Given the description of an element on the screen output the (x, y) to click on. 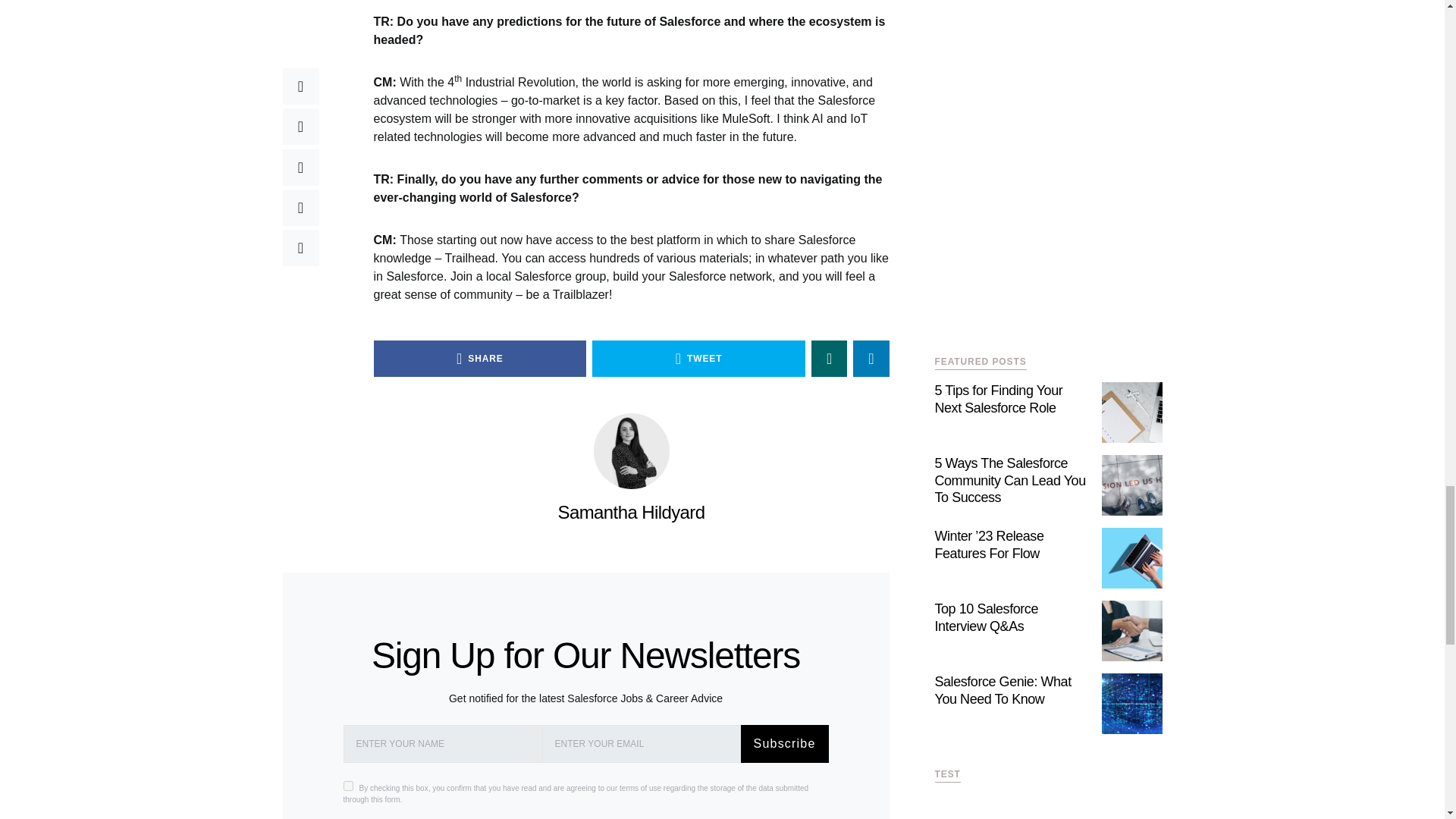
on (347, 786)
